Given the description of an element on the screen output the (x, y) to click on. 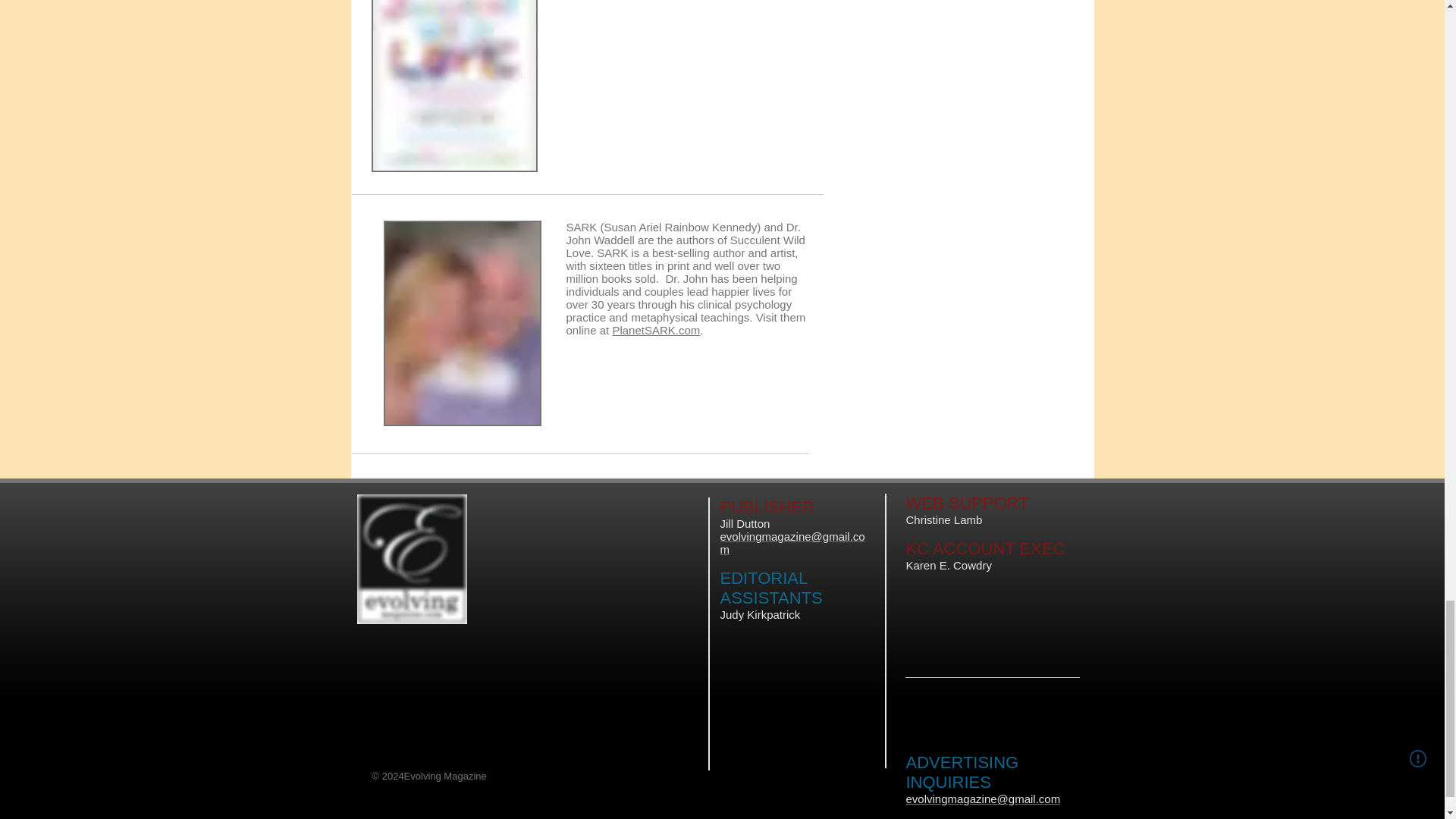
Evolving Logo Big E.jpg (410, 559)
975sarkbio.jpg (462, 322)
PlanetSARK.com (655, 329)
